Given the description of an element on the screen output the (x, y) to click on. 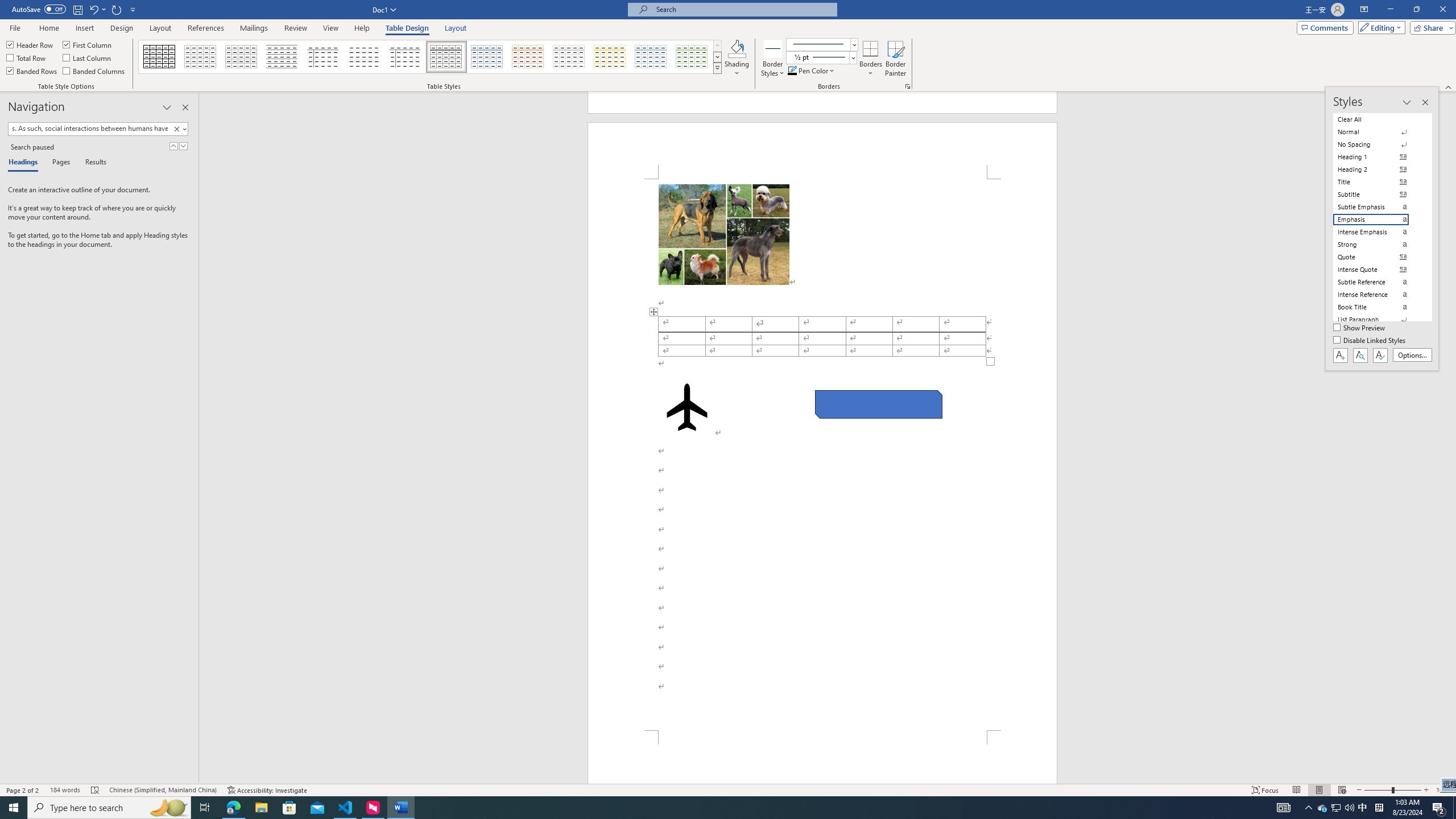
Page 2 content (822, 454)
Borders and Shading... (907, 85)
Pen Color (811, 69)
Rectangle: Diagonal Corners Snipped 2 (878, 403)
Grid Table 1 Light - Accent 6 (691, 56)
Grid Table 1 Light - Accent 5 (650, 56)
Pen Color RGB(0, 0, 0) (791, 69)
Intense Emphasis (1377, 232)
Airplane with solid fill (686, 406)
Border Styles (773, 58)
Plain Table 2 (282, 56)
